Given the description of an element on the screen output the (x, y) to click on. 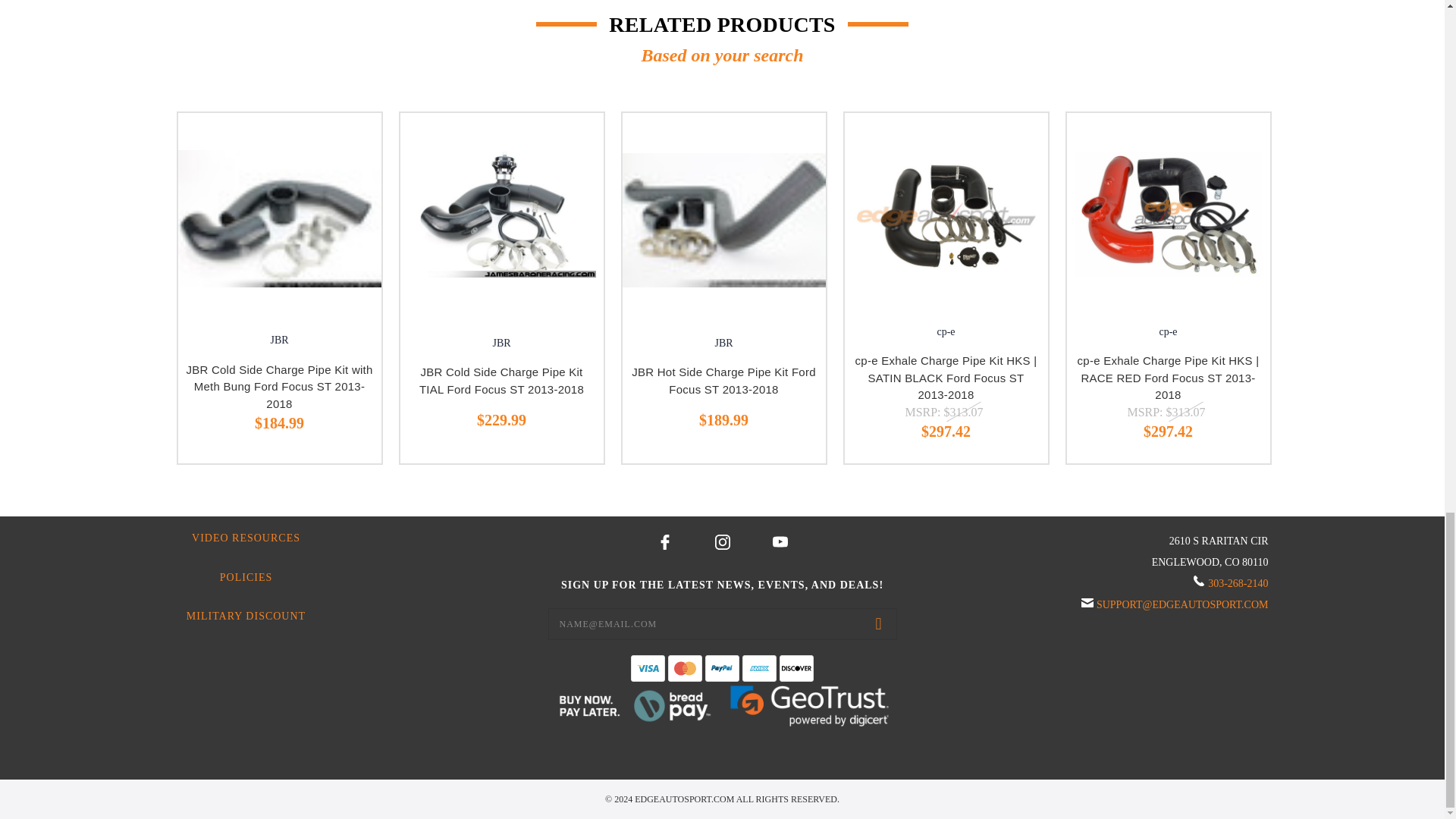
JBR Hot Side Charge Pipe Kit Ford Focus ST 2013-2018 (723, 220)
JBR Cold Side Charge Pipe Kit TIAL Ford Focus ST 2013-2018 (501, 214)
